Given the description of an element on the screen output the (x, y) to click on. 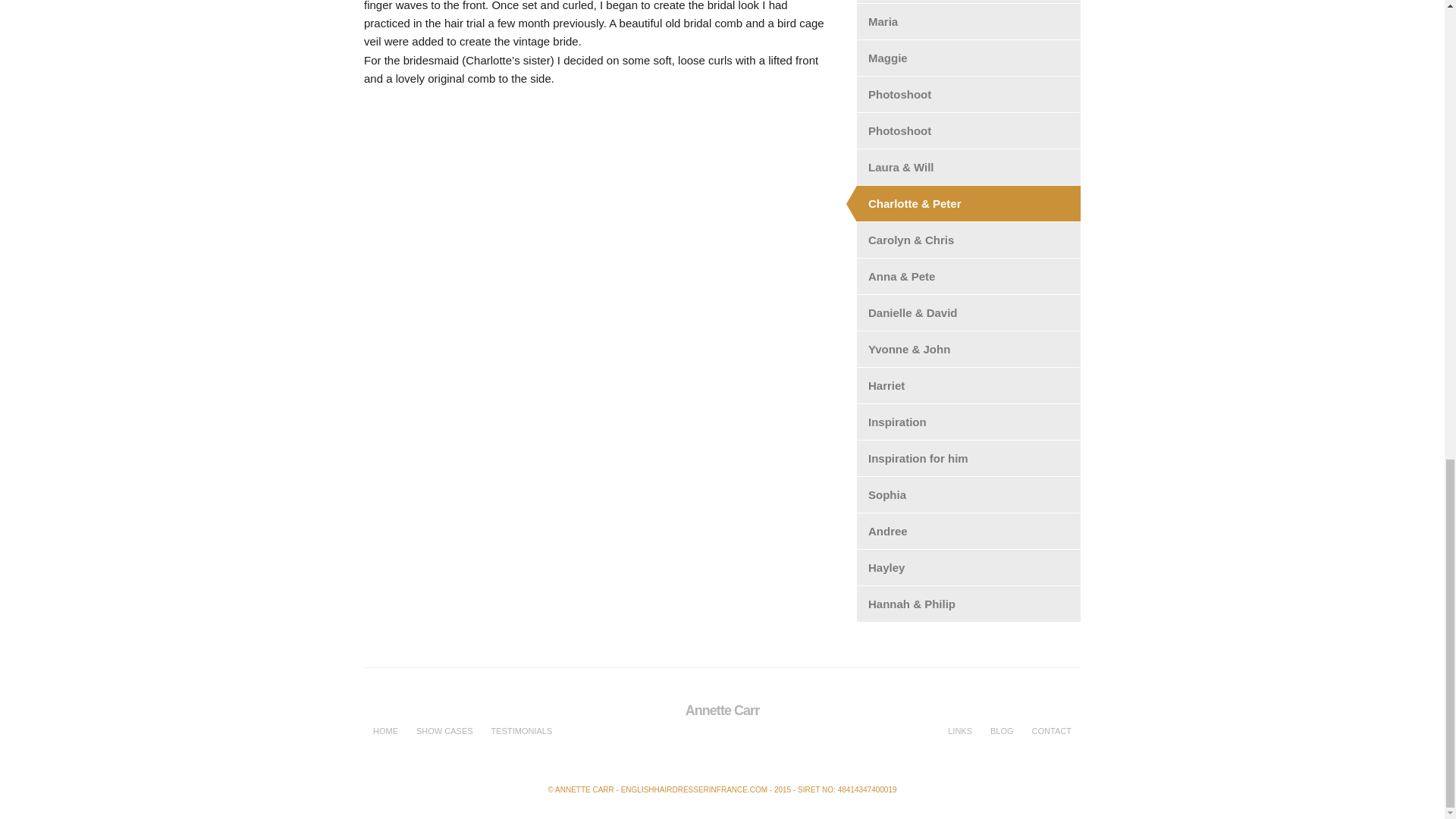
Jenny (968, 1)
Photoshoot (968, 94)
Photoshoot (968, 130)
Maggie (968, 58)
Maria (968, 21)
